Given the description of an element on the screen output the (x, y) to click on. 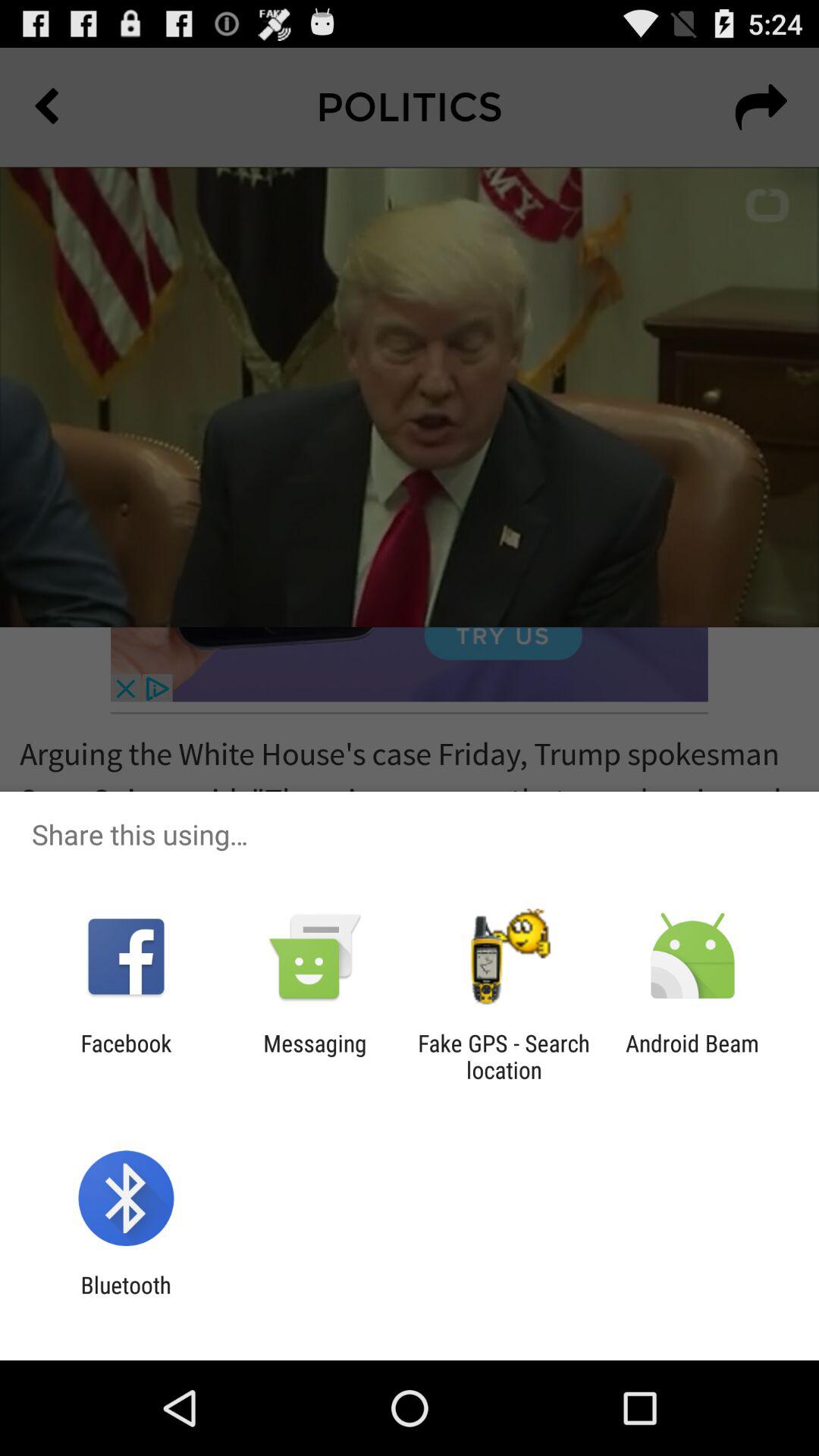
swipe to the messaging app (314, 1056)
